Given the description of an element on the screen output the (x, y) to click on. 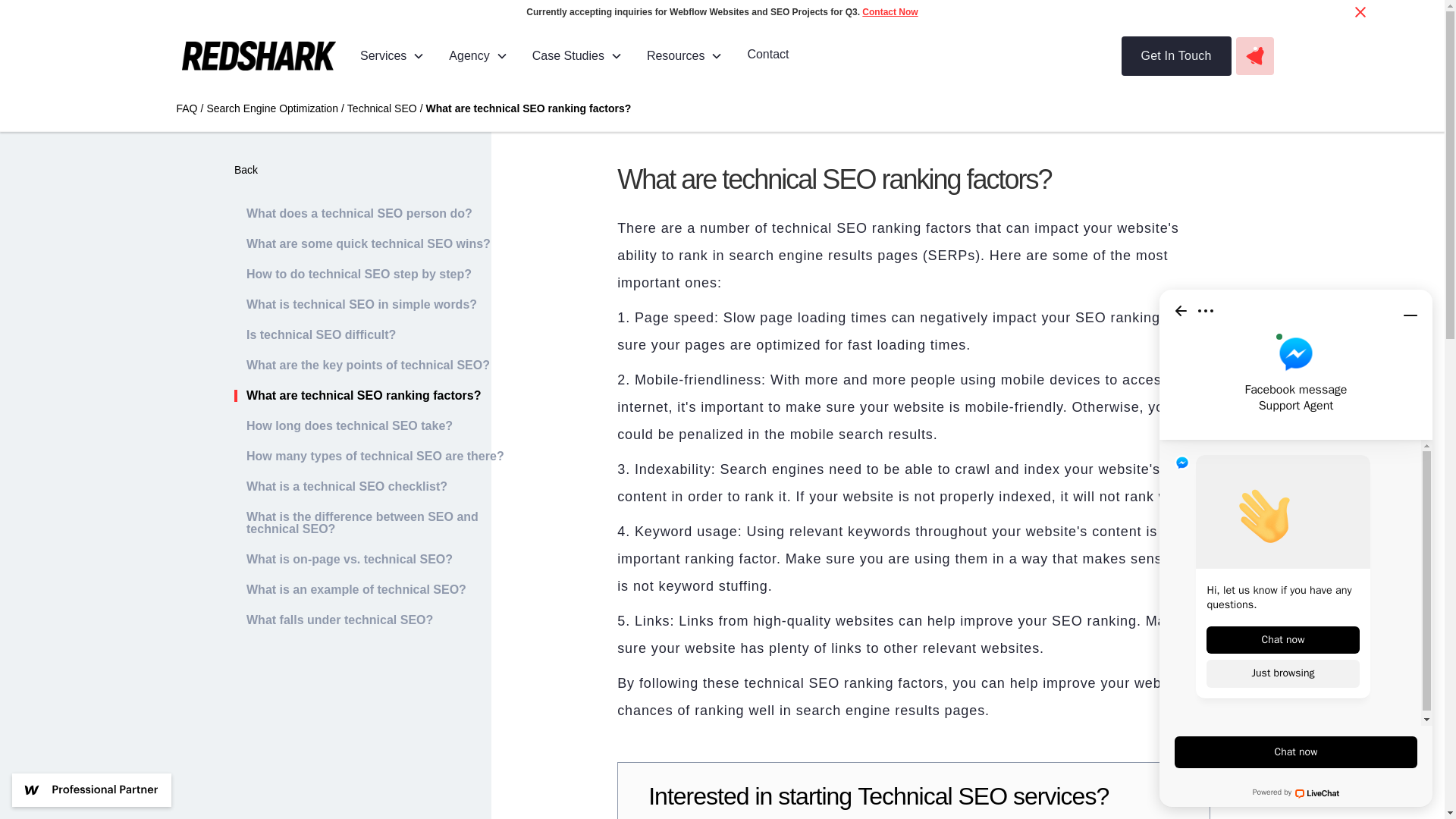
Contact (767, 54)
Contact Now (889, 11)
